Given the description of an element on the screen output the (x, y) to click on. 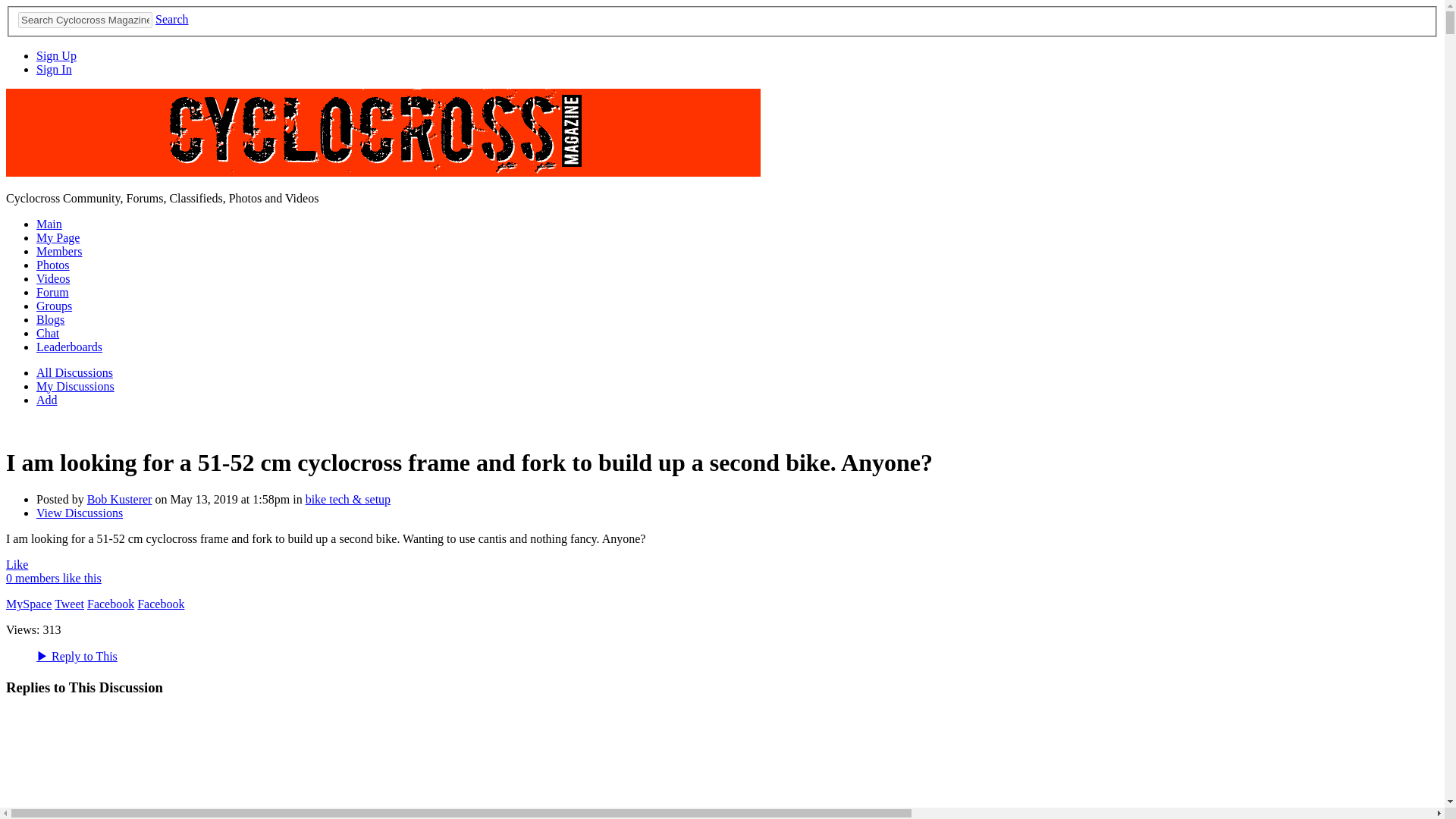
My Page (58, 237)
Search Cyclocross Magazine (84, 19)
Photos (52, 264)
View Discussions (79, 512)
Sign Up (56, 55)
Add (47, 399)
Forum (52, 291)
on May 13, 2019 at 1:58pm in (227, 499)
Facebook (110, 603)
Leaderboards (68, 346)
Tweet (69, 603)
Bob Kusterer (119, 499)
Chat (47, 332)
All Discussions (74, 372)
Posted by (61, 499)
